Given the description of an element on the screen output the (x, y) to click on. 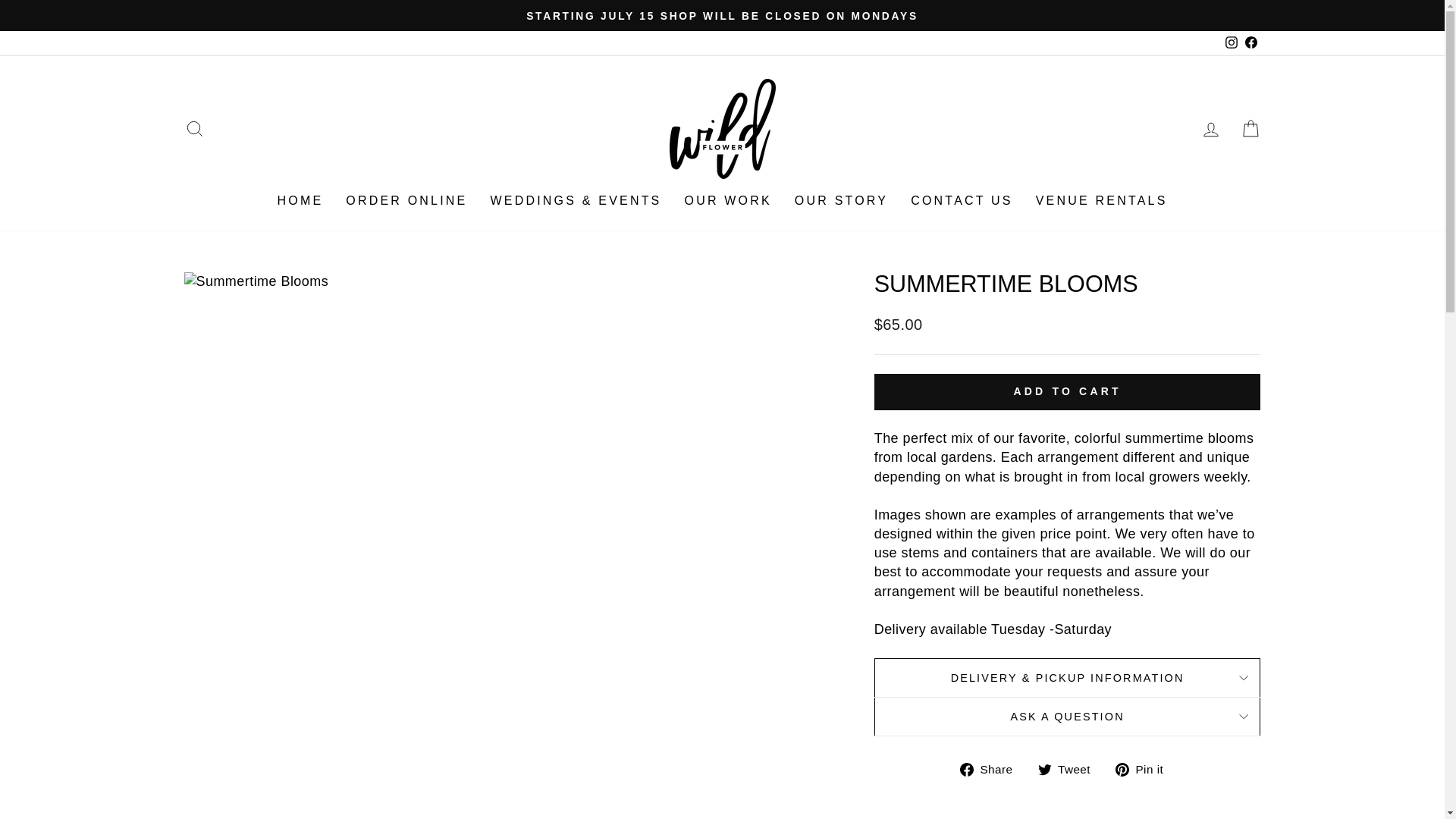
Wildflower DSM on Facebook (1250, 42)
Tweet on Twitter (1069, 768)
Pin on Pinterest (1144, 768)
SEARCH (194, 129)
Facebook (1250, 42)
Share on Facebook (992, 768)
Wildflower DSM on Instagram (1230, 42)
Instagram (1230, 42)
